Given the description of an element on the screen output the (x, y) to click on. 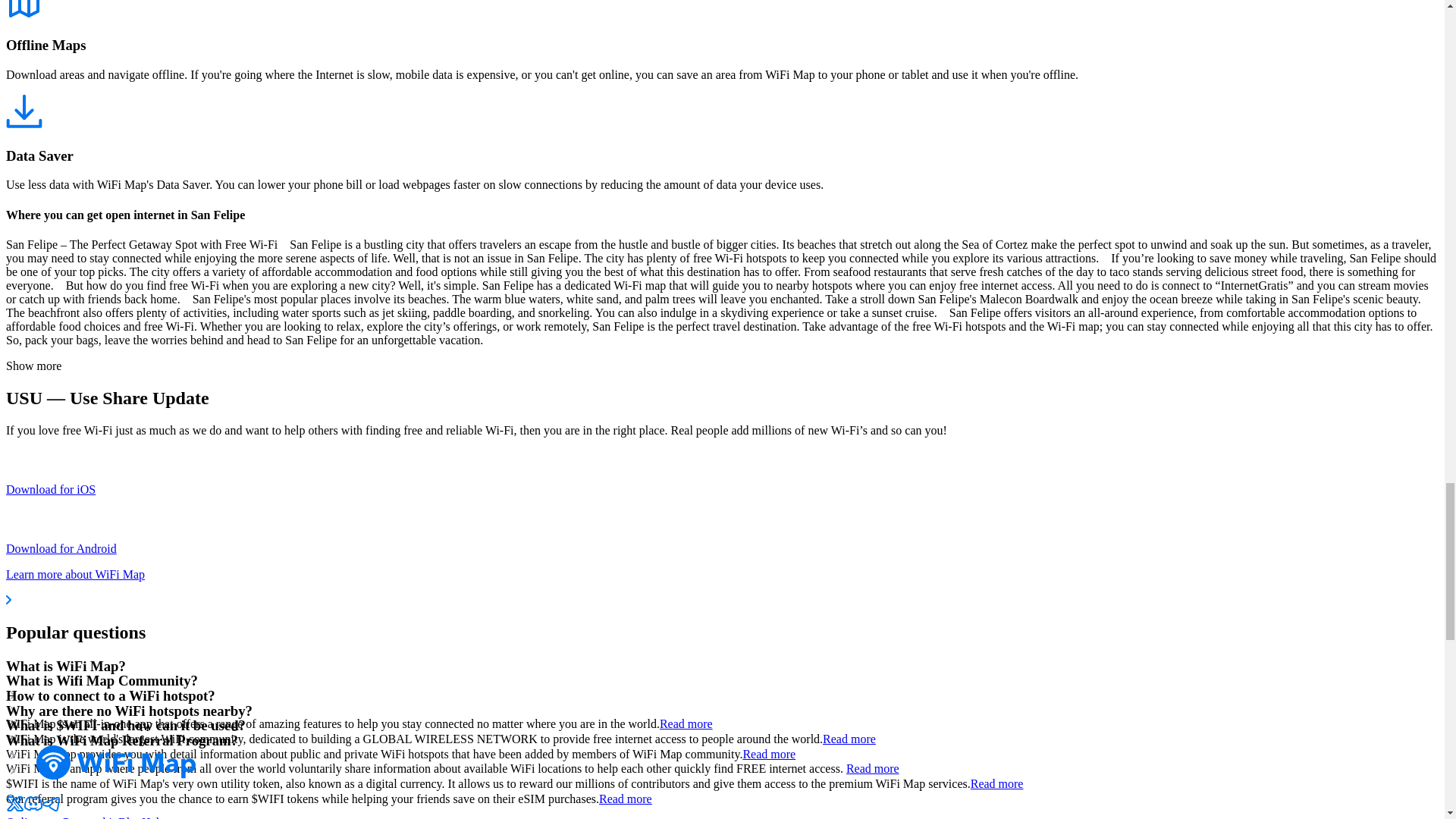
Read more (849, 738)
Blog (129, 817)
Partnership (89, 817)
Online map (33, 817)
Read more (768, 753)
Help center (169, 817)
Read more (997, 783)
Read more (872, 768)
Read more (625, 798)
Read more (686, 723)
